Given the description of an element on the screen output the (x, y) to click on. 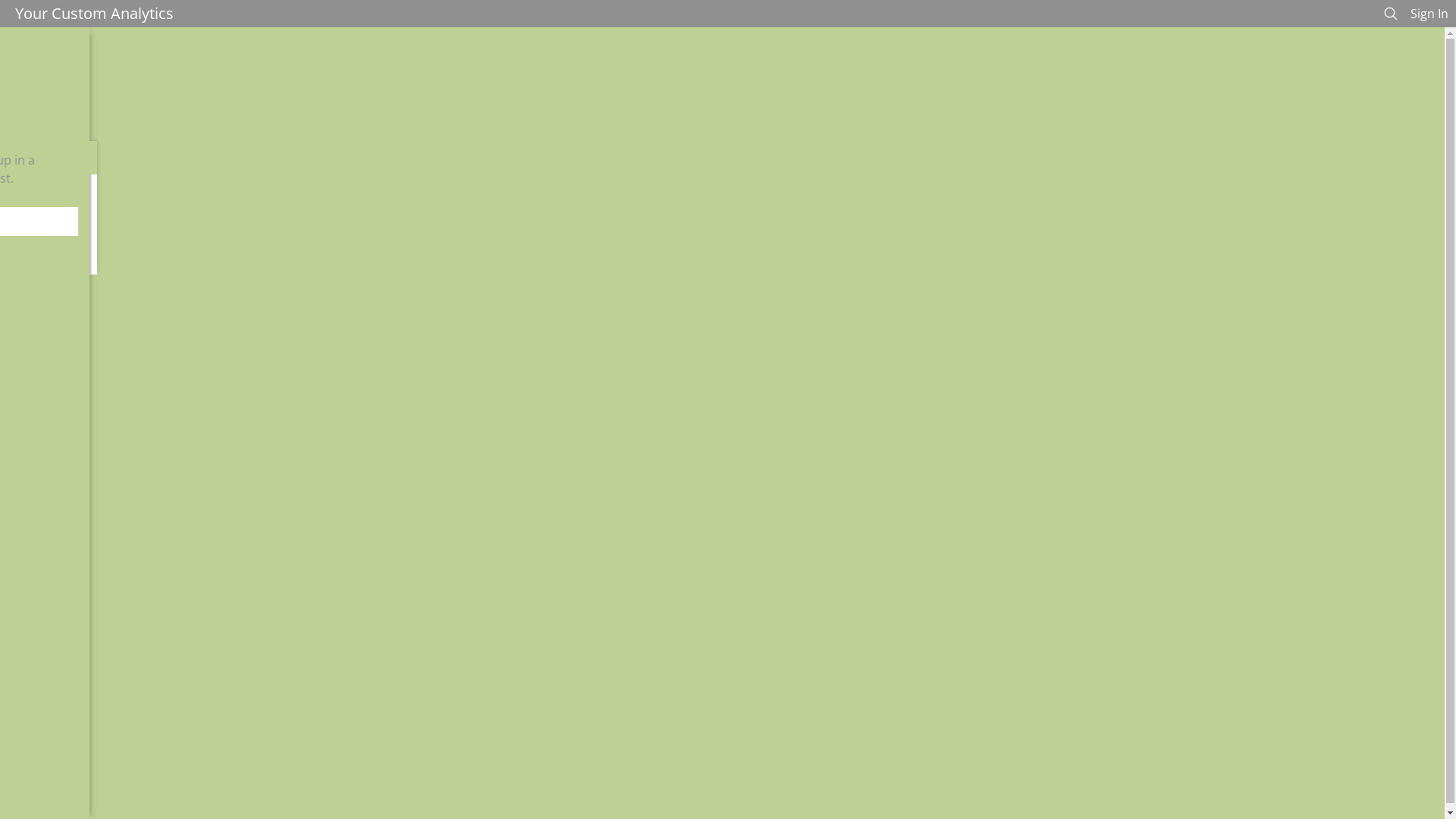
Global Nav Menu Element type: text (303, 12)
search Element type: text (1079, 12)
Sign In Element type: text (1129, 12)
